Given the description of an element on the screen output the (x, y) to click on. 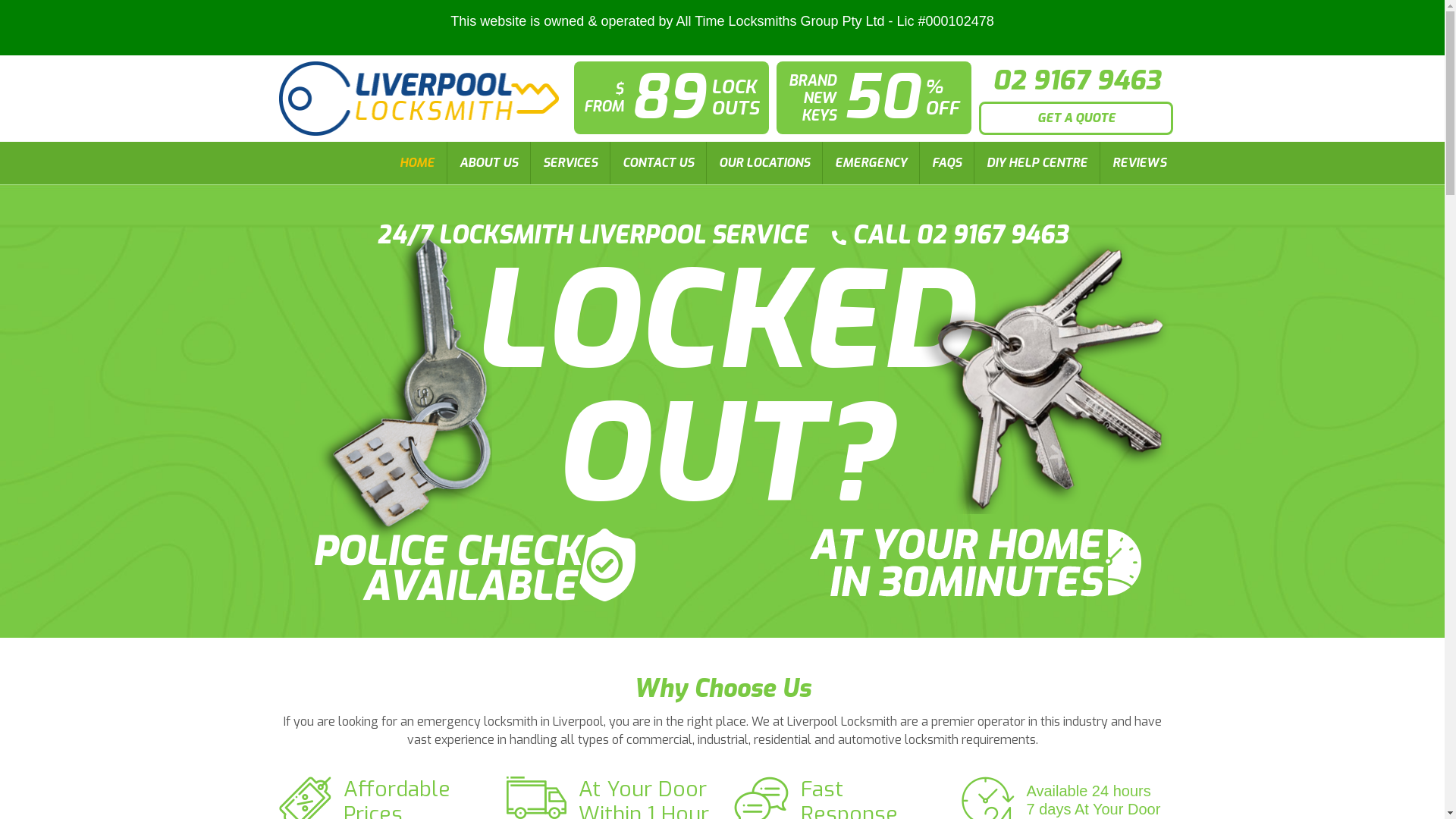
GET A QUOTE Element type: text (1076, 117)
DIY HELP CENTRE Element type: text (1035, 162)
02 9167 9463 Element type: text (1076, 80)
SERVICES Element type: text (569, 162)
FAQS Element type: text (945, 162)
REVIEWS Element type: text (1138, 162)
CONTACT US Element type: text (657, 162)
EMERGENCY Element type: text (870, 162)
CALL 02 9167 9463 Element type: text (949, 234)
ABOUT US Element type: text (488, 162)
OUR LOCATIONS Element type: text (764, 162)
HOME Element type: text (415, 162)
